Given the description of an element on the screen output the (x, y) to click on. 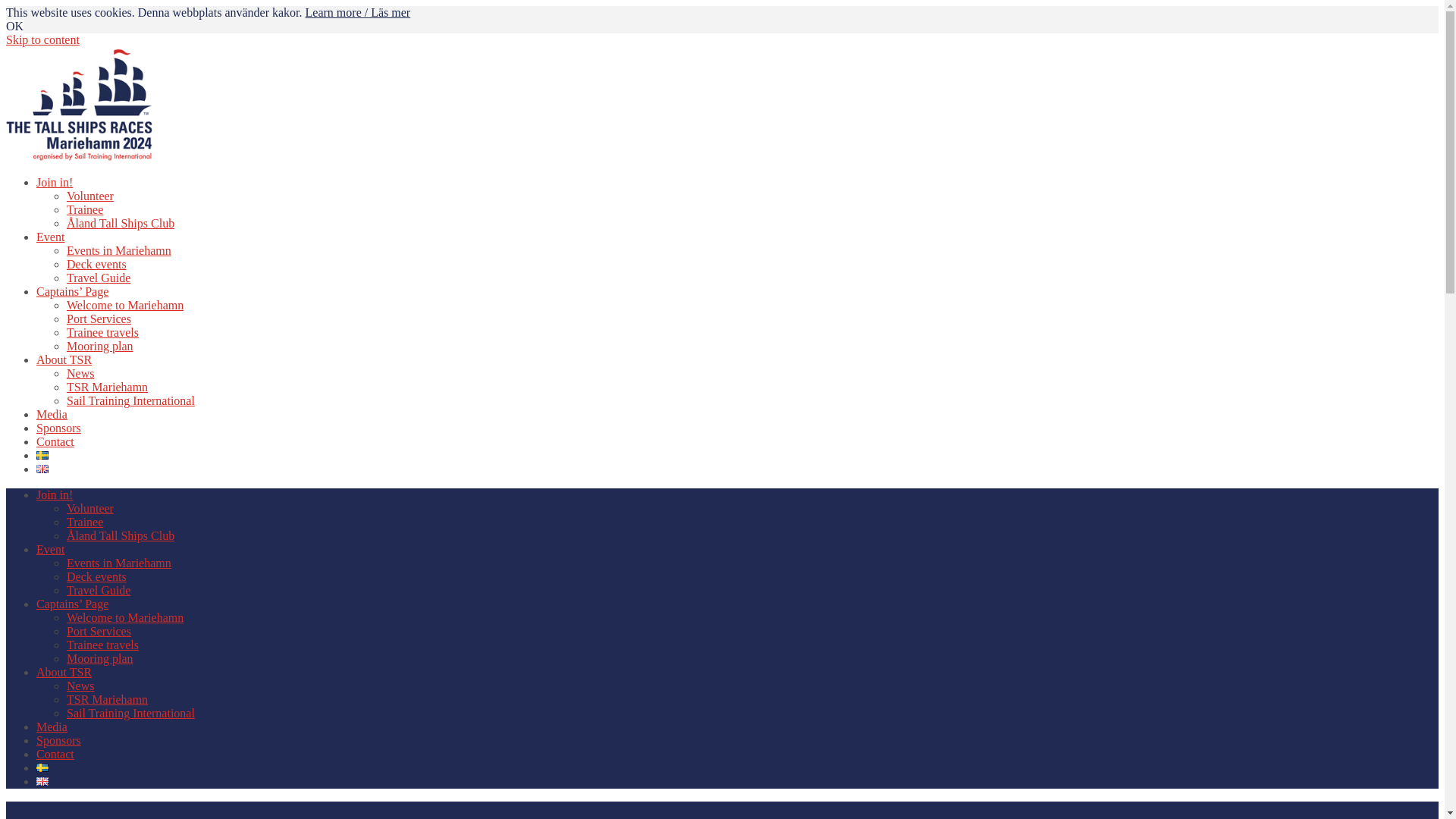
Trainee travels Element type: text (102, 644)
Welcome to Mariehamn Element type: text (124, 304)
Event Element type: text (50, 236)
Join in! Element type: text (54, 494)
Port Services Element type: text (98, 630)
News Element type: text (80, 373)
Deck events Element type: text (96, 576)
Join in! Element type: text (54, 181)
About TSR Element type: text (63, 359)
Events in Mariehamn Element type: text (118, 250)
Sponsors Element type: text (58, 740)
Trainee Element type: text (84, 209)
English Element type: hover (42, 781)
Contact Element type: text (55, 753)
Travel Guide Element type: text (98, 589)
Svenska Element type: hover (42, 767)
Mooring plan Element type: text (99, 345)
About TSR Element type: text (63, 671)
Trainee Element type: text (84, 521)
Media Element type: text (51, 726)
Skip to content Element type: text (42, 39)
OK Element type: text (14, 25)
Port Services Element type: text (98, 318)
Sponsors Element type: text (58, 427)
Volunteer Element type: text (89, 195)
Welcome to Mariehamn Element type: text (124, 617)
Travel Guide Element type: text (98, 277)
TSR Mariehamn Element type: text (106, 386)
Media Element type: text (51, 413)
Svenska Element type: hover (42, 455)
Mooring plan Element type: text (99, 658)
Trainee travels Element type: text (102, 332)
News Element type: text (80, 685)
Events in Mariehamn Element type: text (118, 562)
Sail Training International Element type: text (130, 712)
English Element type: hover (42, 468)
Sail Training International Element type: text (130, 400)
Event Element type: text (50, 548)
Contact Element type: text (55, 441)
Volunteer Element type: text (89, 508)
TSR Mariehamn Element type: text (106, 699)
Deck events Element type: text (96, 263)
